Given the description of an element on the screen output the (x, y) to click on. 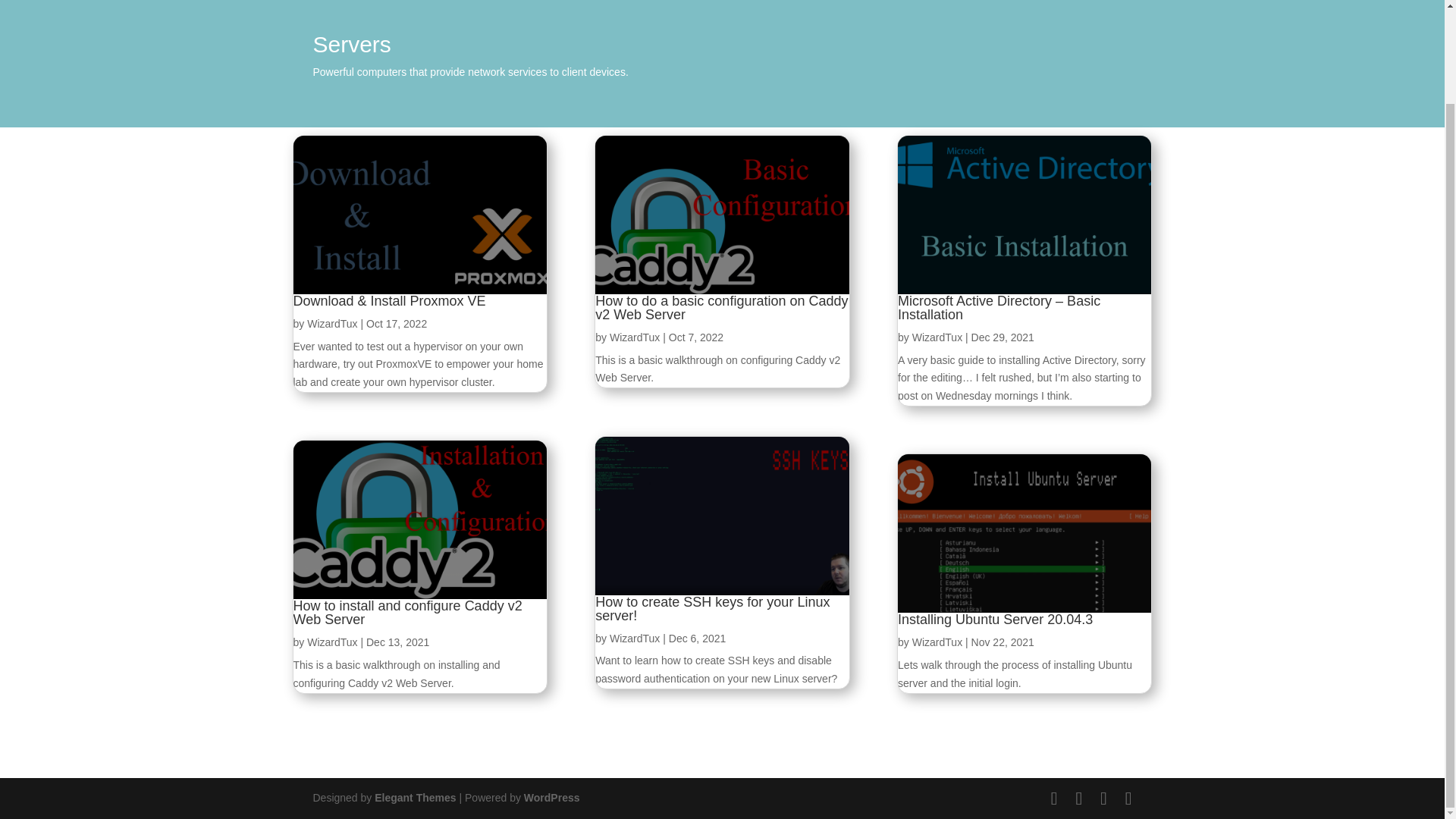
WizardTux (937, 337)
Posts by WizardTux (937, 337)
Posts by WizardTux (634, 638)
Posts by WizardTux (937, 642)
WizardTux (331, 323)
WizardTux (634, 638)
WizardTux (634, 337)
How to do a basic configuration on Caddy v2 Web Server (721, 307)
Posts by WizardTux (634, 337)
How to create SSH keys for your Linux server! (712, 608)
